Given the description of an element on the screen output the (x, y) to click on. 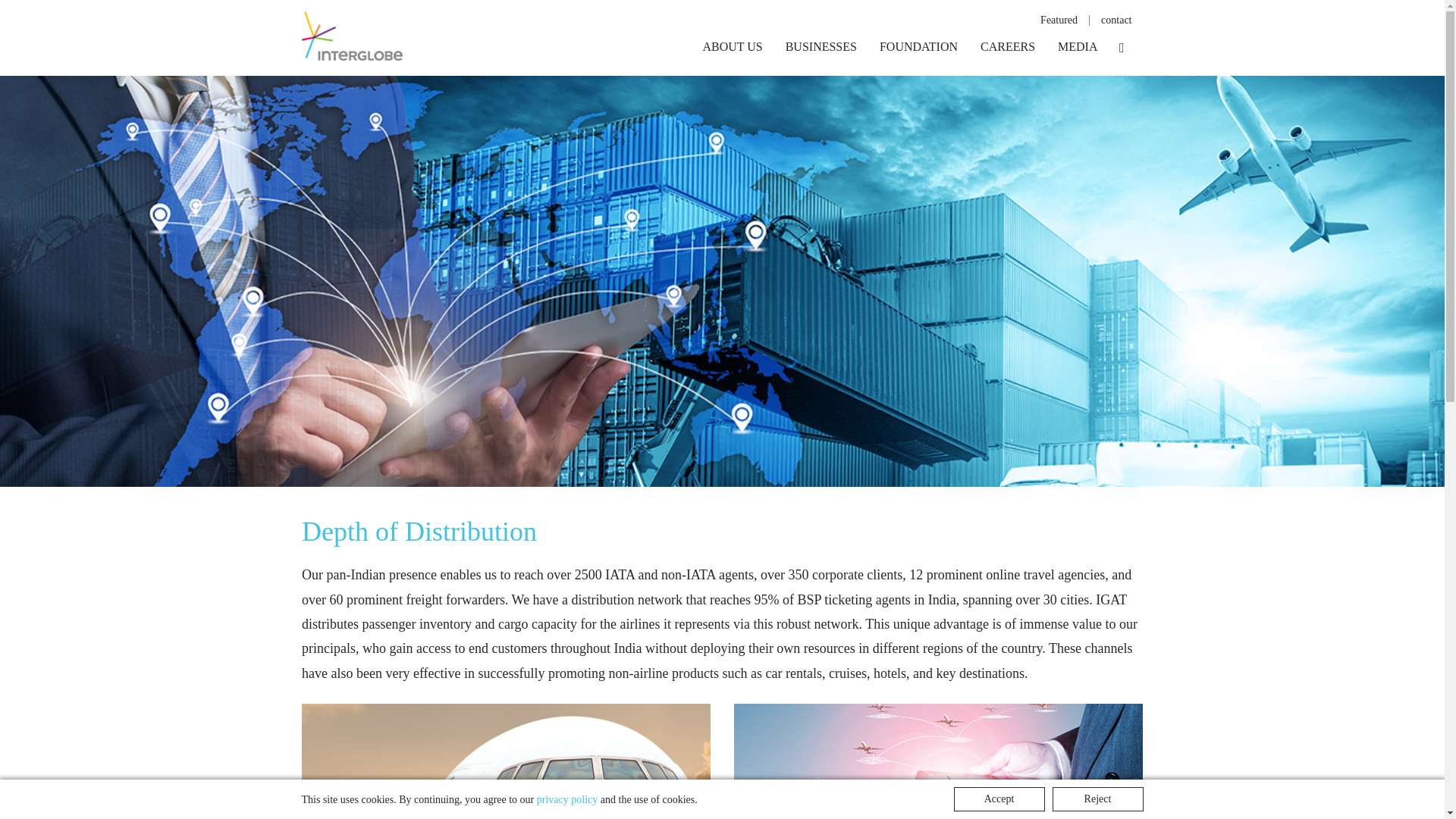
ABOUT US (731, 57)
Reject (1097, 799)
contact (1115, 19)
CAREERS (1007, 57)
BUSINESSES (820, 57)
Featured (1059, 19)
privacy policy (566, 798)
MEDIA (1077, 57)
Accept (999, 799)
FOUNDATION (918, 57)
